Given the description of an element on the screen output the (x, y) to click on. 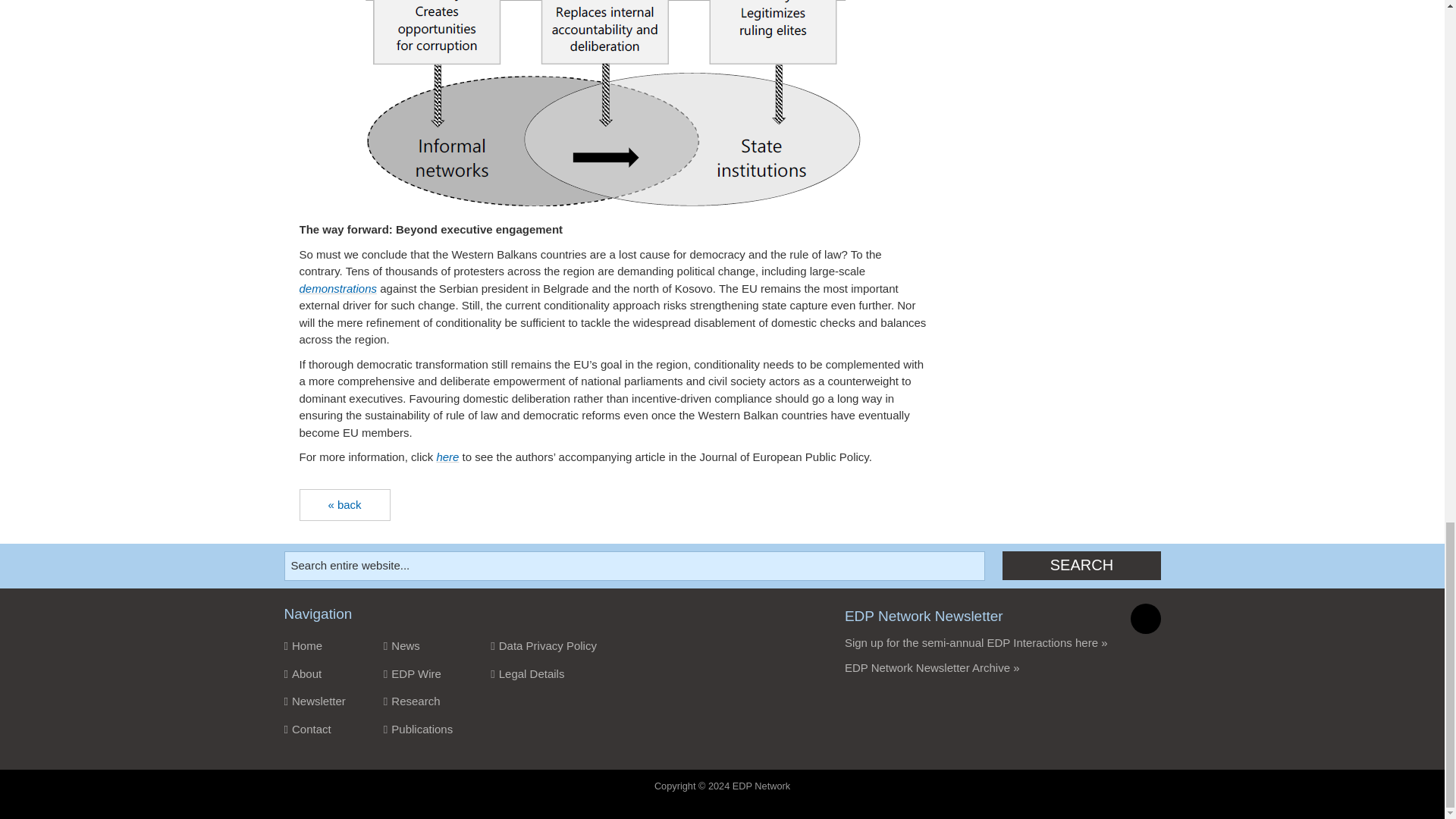
Publications (418, 729)
Newsletter (314, 701)
here (446, 456)
demonstrations (337, 287)
Contact (314, 729)
Search entire website... (634, 565)
Home (314, 646)
Search (1081, 565)
About (314, 674)
Search (1081, 565)
